Given the description of an element on the screen output the (x, y) to click on. 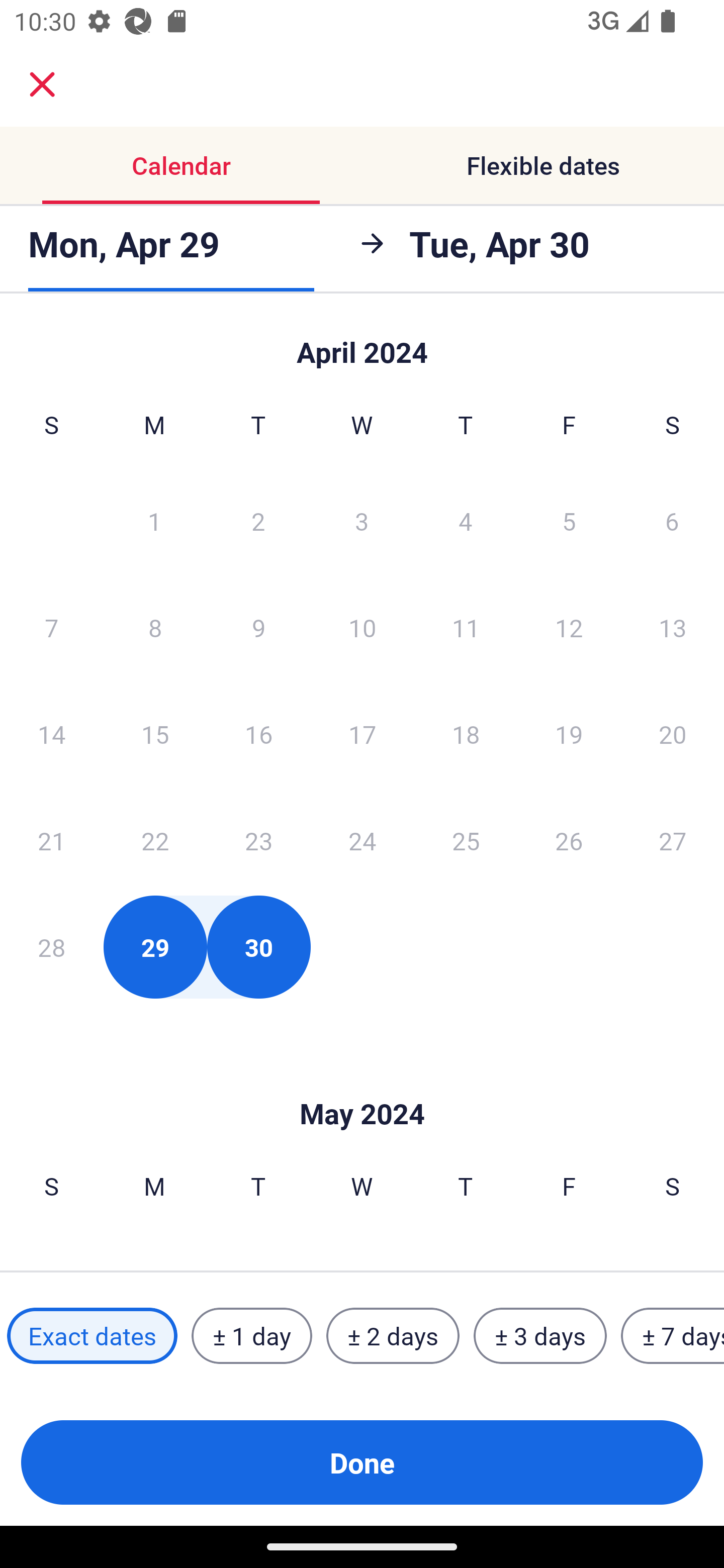
close. (42, 84)
Flexible dates (542, 164)
Skip to Done (362, 343)
1 Monday, April 1, 2024 (154, 520)
2 Tuesday, April 2, 2024 (257, 520)
3 Wednesday, April 3, 2024 (361, 520)
4 Thursday, April 4, 2024 (465, 520)
5 Friday, April 5, 2024 (568, 520)
6 Saturday, April 6, 2024 (672, 520)
7 Sunday, April 7, 2024 (51, 626)
8 Monday, April 8, 2024 (155, 626)
9 Tuesday, April 9, 2024 (258, 626)
10 Wednesday, April 10, 2024 (362, 626)
11 Thursday, April 11, 2024 (465, 626)
12 Friday, April 12, 2024 (569, 626)
13 Saturday, April 13, 2024 (672, 626)
14 Sunday, April 14, 2024 (51, 733)
15 Monday, April 15, 2024 (155, 733)
16 Tuesday, April 16, 2024 (258, 733)
17 Wednesday, April 17, 2024 (362, 733)
18 Thursday, April 18, 2024 (465, 733)
19 Friday, April 19, 2024 (569, 733)
20 Saturday, April 20, 2024 (672, 733)
21 Sunday, April 21, 2024 (51, 840)
22 Monday, April 22, 2024 (155, 840)
23 Tuesday, April 23, 2024 (258, 840)
24 Wednesday, April 24, 2024 (362, 840)
25 Thursday, April 25, 2024 (465, 840)
26 Friday, April 26, 2024 (569, 840)
27 Saturday, April 27, 2024 (672, 840)
28 Sunday, April 28, 2024 (51, 946)
Skip to Done (362, 1083)
Exact dates (92, 1335)
± 1 day (251, 1335)
± 2 days (392, 1335)
± 3 days (539, 1335)
± 7 days (672, 1335)
Done (361, 1462)
